Given the description of an element on the screen output the (x, y) to click on. 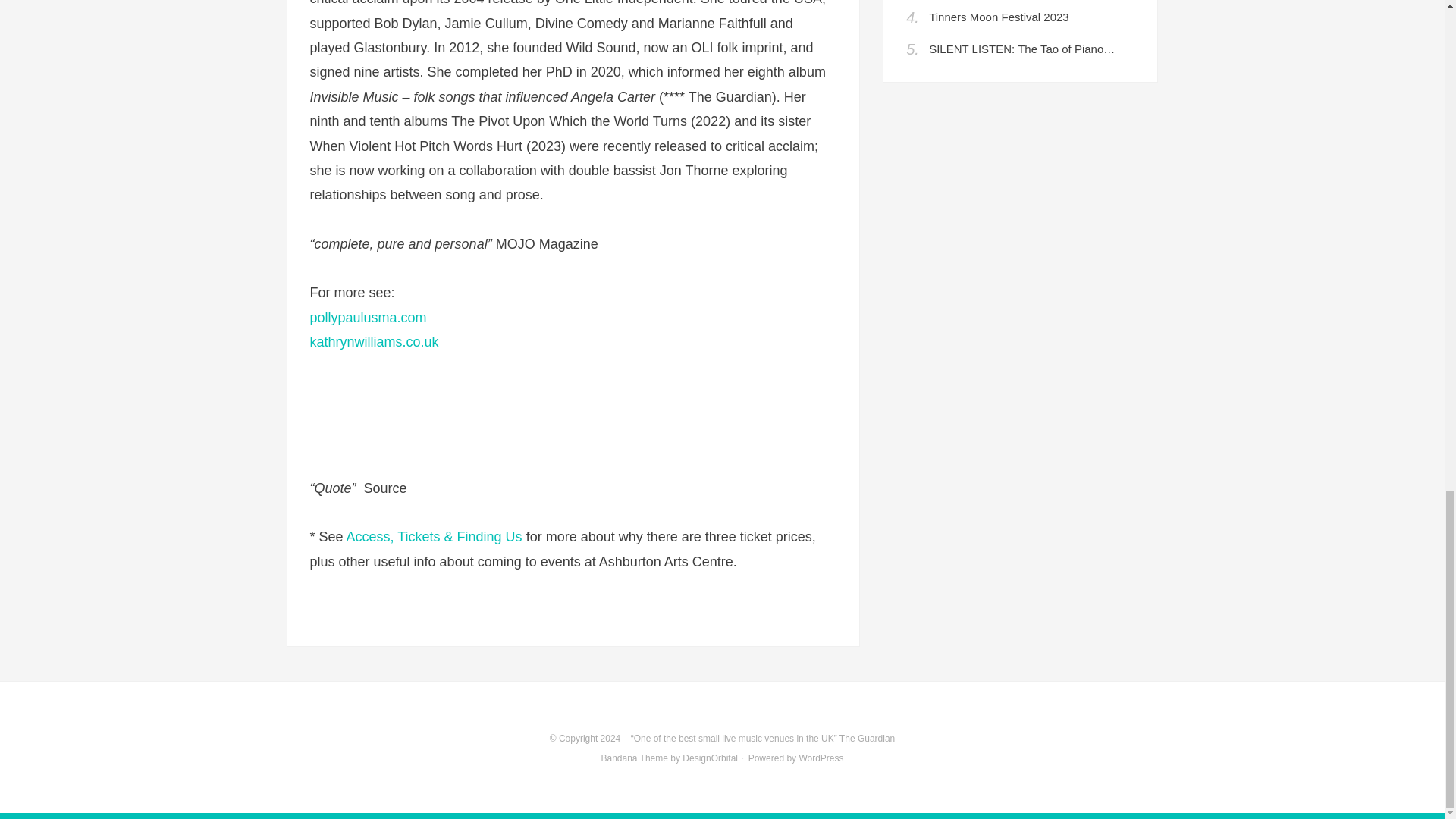
DesignOrbital (710, 757)
pollypaulusma.com (367, 317)
WordPress (820, 757)
kathrynwilliams.co.uk (373, 341)
WordPress (820, 757)
DesignOrbital (710, 757)
Tinners Moon Festival 2023 (998, 16)
